Given the description of an element on the screen output the (x, y) to click on. 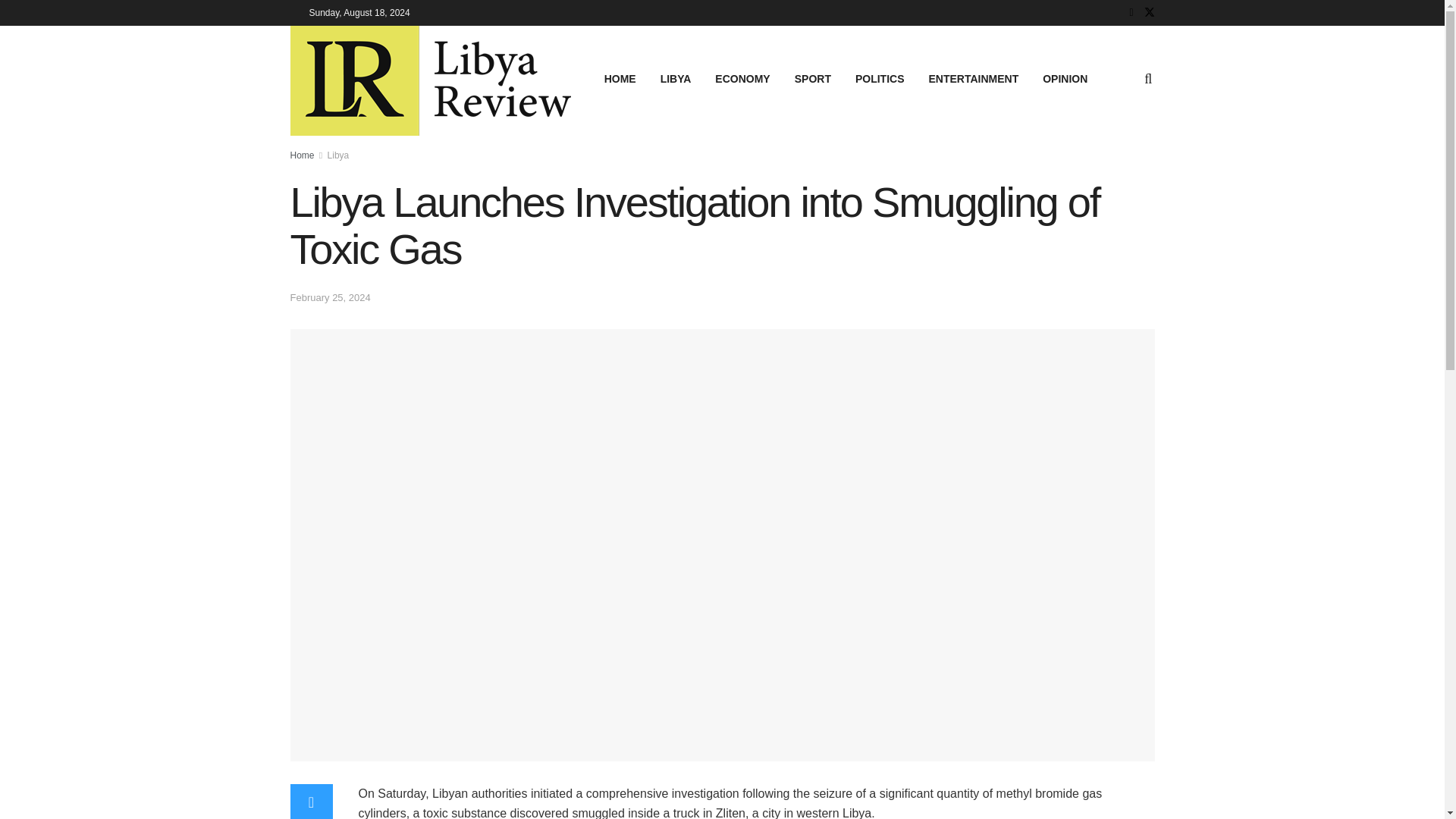
POLITICS (880, 78)
SPORT (813, 78)
LIBYA (675, 78)
February 25, 2024 (329, 297)
OPINION (1064, 78)
ENTERTAINMENT (972, 78)
Home (301, 154)
HOME (619, 78)
Libya (338, 154)
ECONOMY (742, 78)
